Given the description of an element on the screen output the (x, y) to click on. 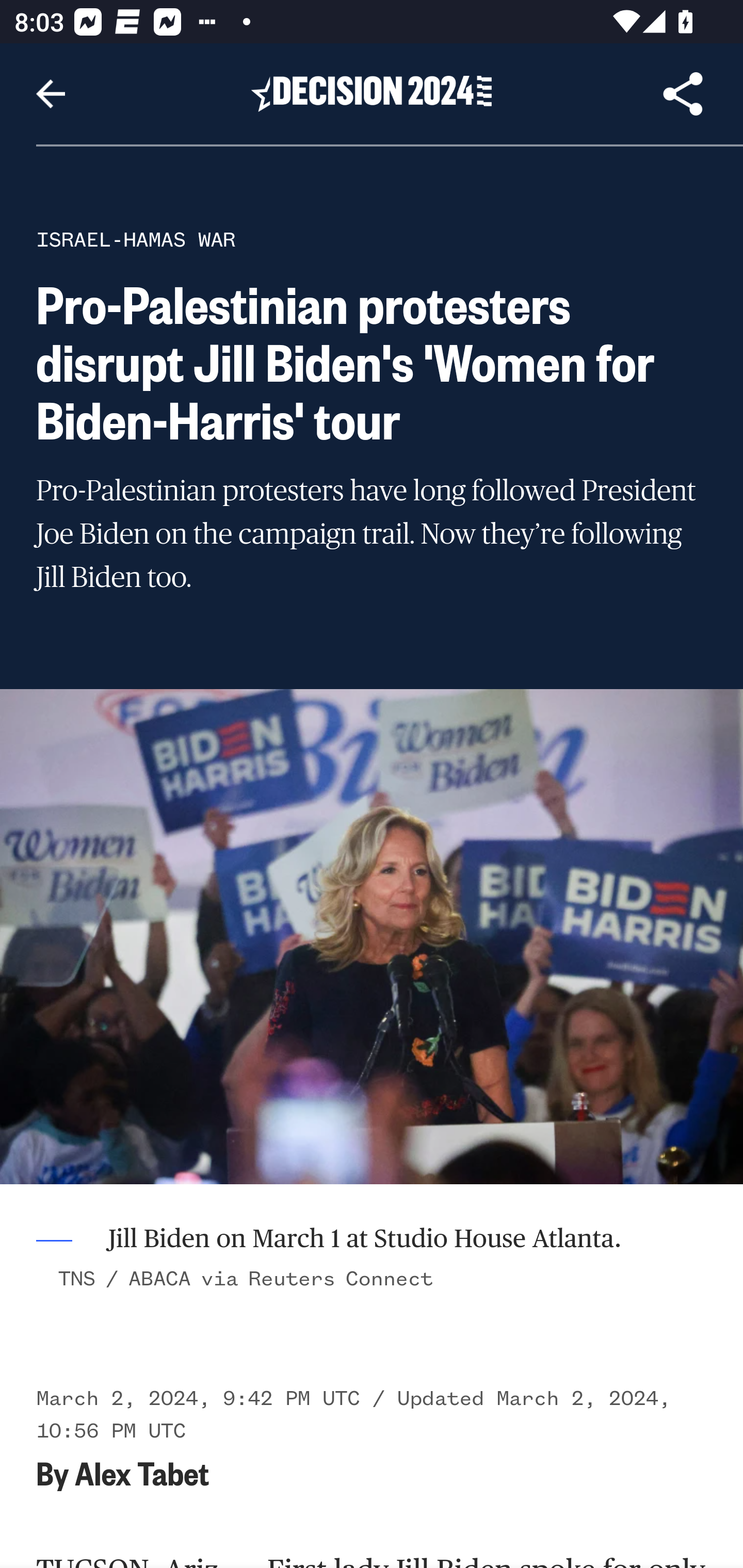
Navigate up (50, 93)
Share Article, button (683, 94)
Header, Decision 2024 (371, 93)
ISRAEL-HAMAS WAR (136, 239)
